Given the description of an element on the screen output the (x, y) to click on. 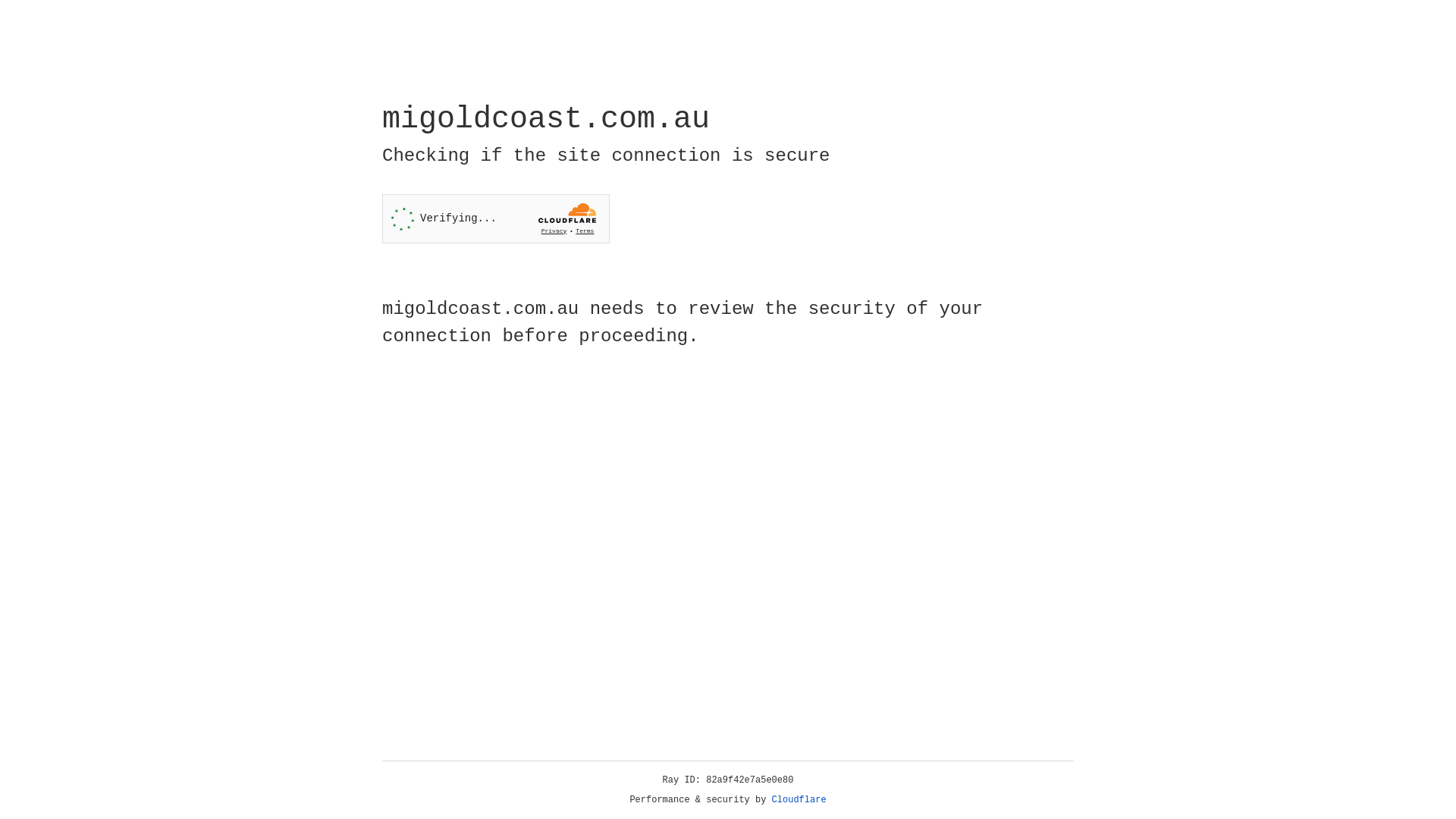
Cloudflare Element type: text (798, 799)
Widget containing a Cloudflare security challenge Element type: hover (495, 218)
